Given the description of an element on the screen output the (x, y) to click on. 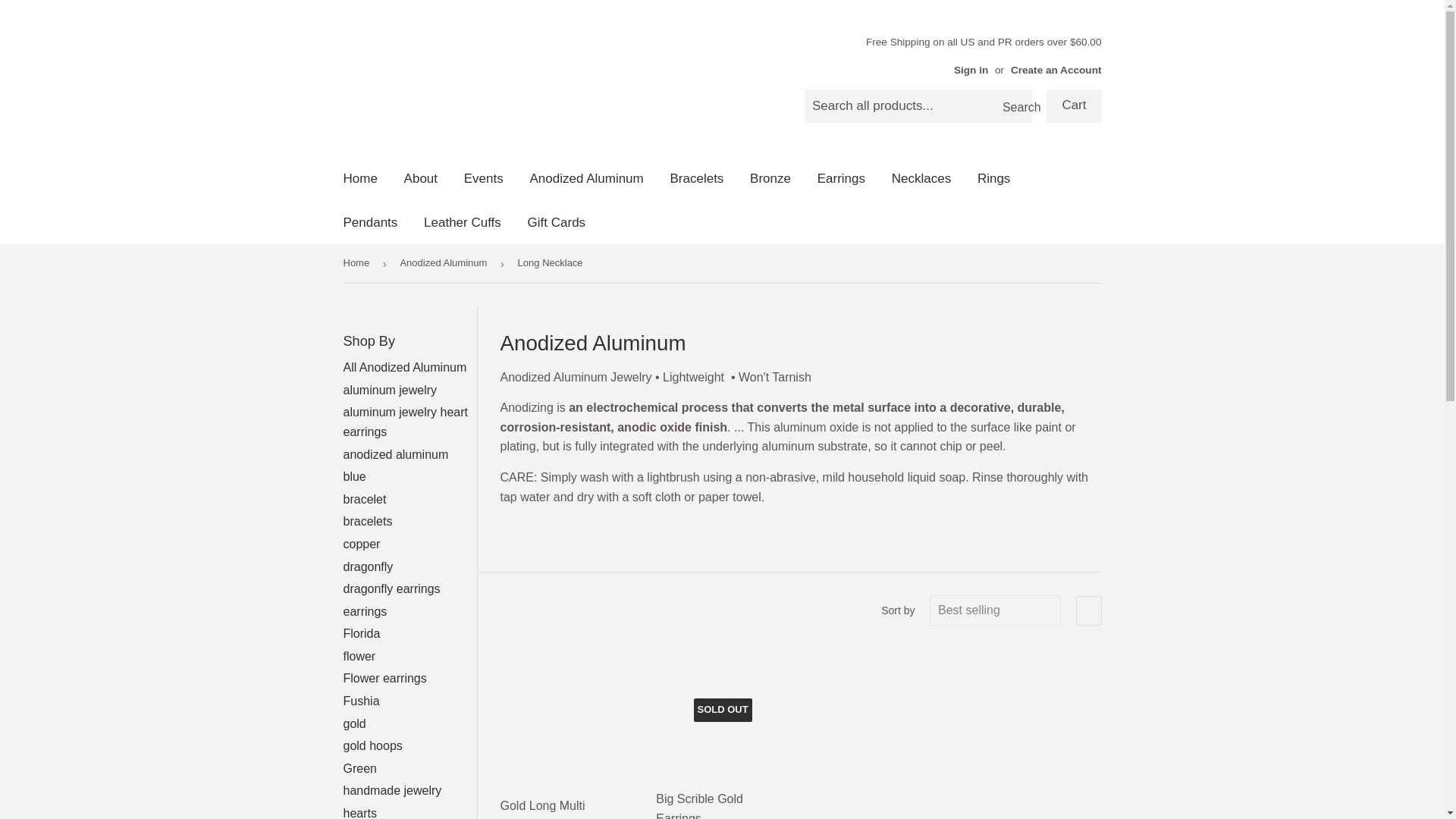
Show products matching tag Florida (361, 633)
Cart (1073, 105)
Show products matching tag bracelets (366, 521)
Events (483, 178)
Show products matching tag aluminum jewelry (389, 390)
Create an Account (1056, 70)
Show products matching tag dragonfly (367, 565)
Show products matching tag gold (353, 723)
Sign in (970, 70)
Show products matching tag anodized aluminum (395, 454)
Show products matching tag gold hoops (371, 745)
Show products matching tag Green (358, 768)
Anodized Aluminum (585, 178)
Show products matching tag Fushia (360, 700)
Show products matching tag dragonfly earrings (390, 588)
